Given the description of an element on the screen output the (x, y) to click on. 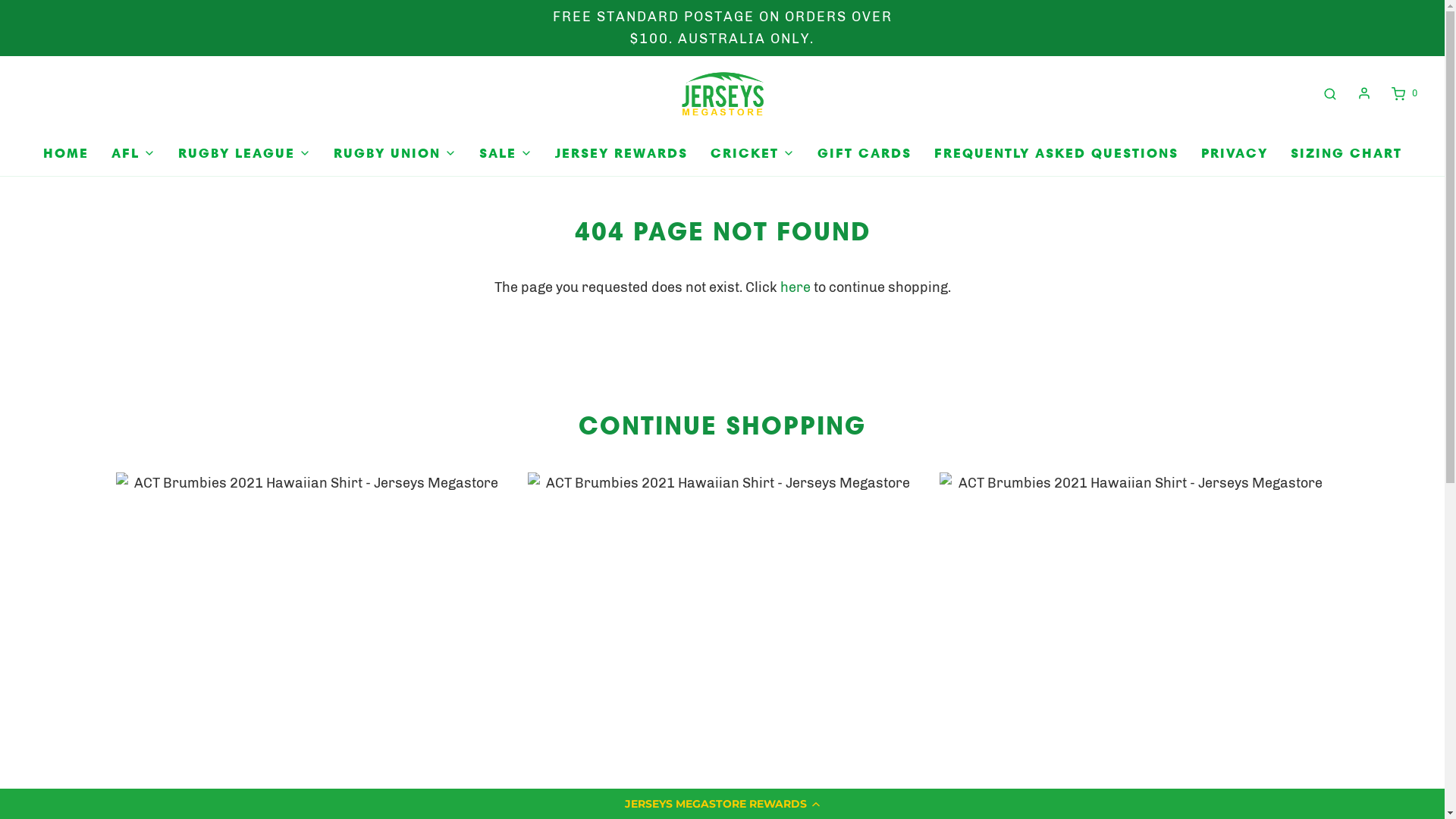
CRICKET Element type: text (751, 153)
0 Element type: text (1402, 93)
SALE Element type: text (505, 153)
GIFT CARDS Element type: text (864, 153)
RUGBY LEAGUE Element type: text (243, 153)
SIZING CHART Element type: text (1346, 153)
Log in Element type: hover (1364, 93)
JERSEY REWARDS Element type: text (621, 153)
PRIVACY Element type: text (1234, 153)
FREQUENTLY ASKED QUESTIONS Element type: text (1056, 153)
Search Element type: hover (1329, 93)
AFL Element type: text (132, 153)
here Element type: text (794, 287)
HOME Element type: text (64, 153)
RUGBY UNION Element type: text (394, 153)
